Given the description of an element on the screen output the (x, y) to click on. 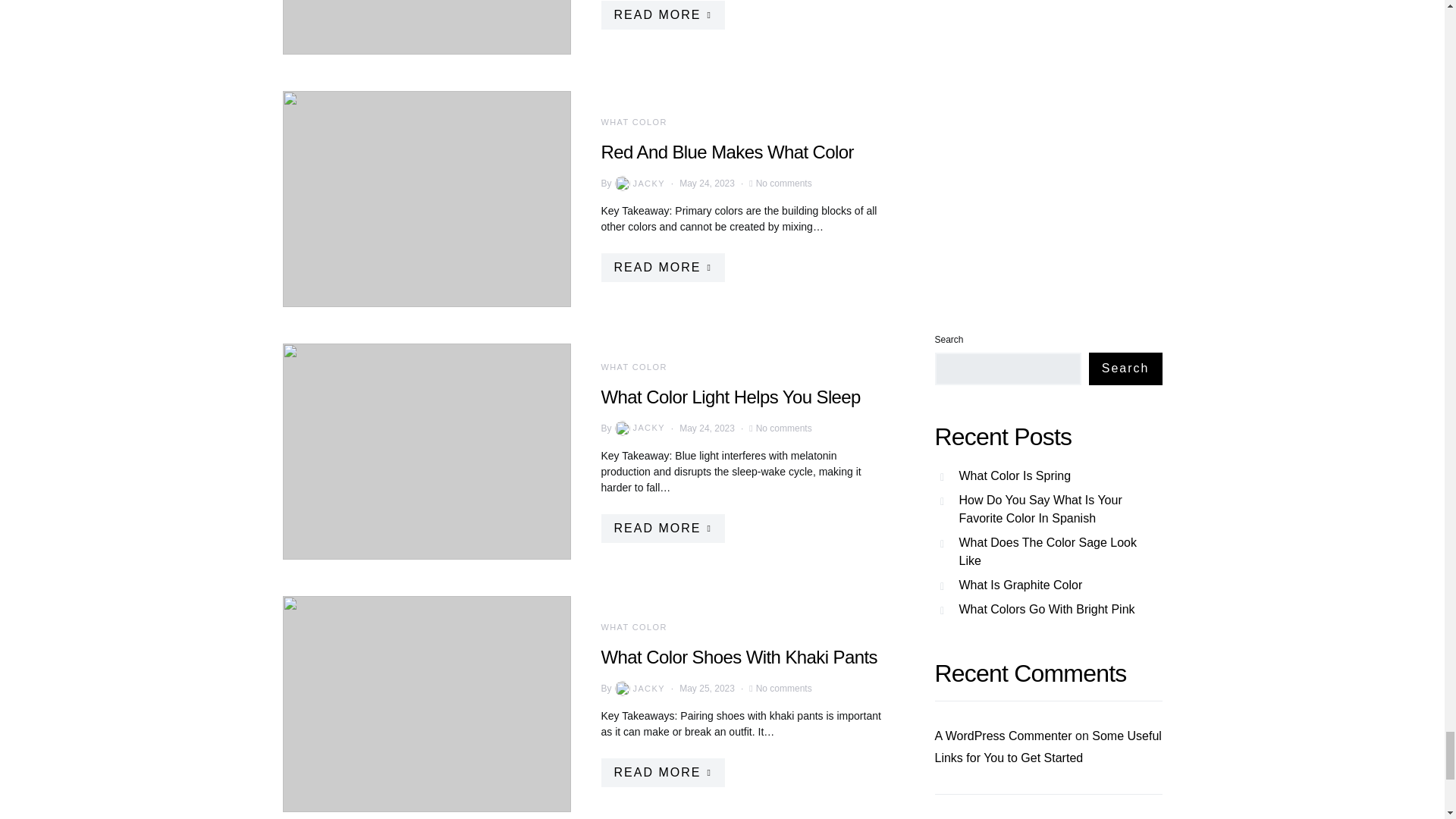
View all posts by Jacky (638, 688)
WHAT COLOR (632, 121)
READ MORE (661, 267)
READ MORE (661, 14)
Red And Blue Makes What Color (726, 151)
No comments (783, 183)
View all posts by Jacky (638, 427)
View all posts by Jacky (638, 183)
JACKY (638, 183)
